Given the description of an element on the screen output the (x, y) to click on. 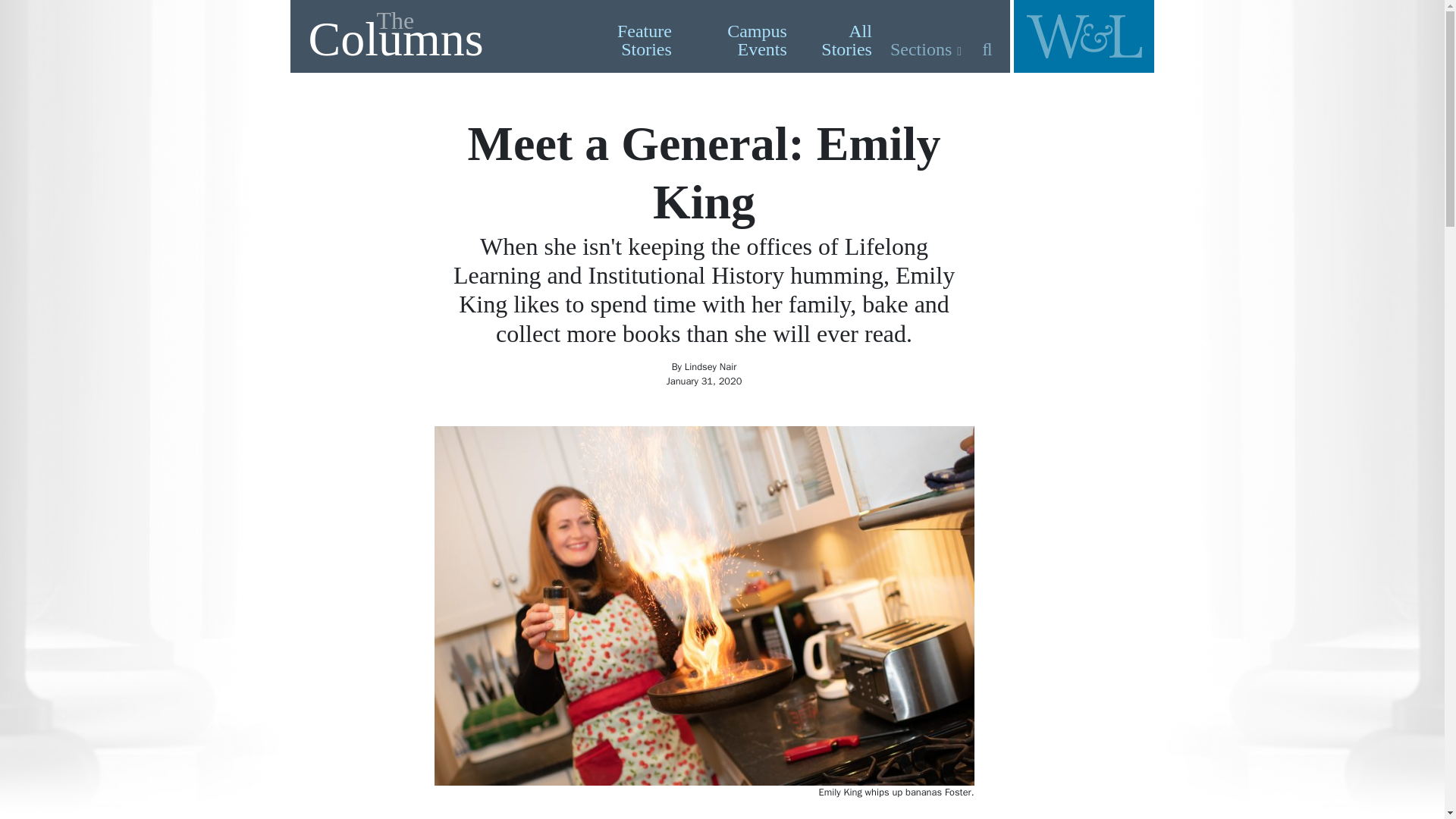
All Stories (838, 40)
Campus Events (738, 40)
Sections (924, 49)
Feature Stories (433, 36)
